Given the description of an element on the screen output the (x, y) to click on. 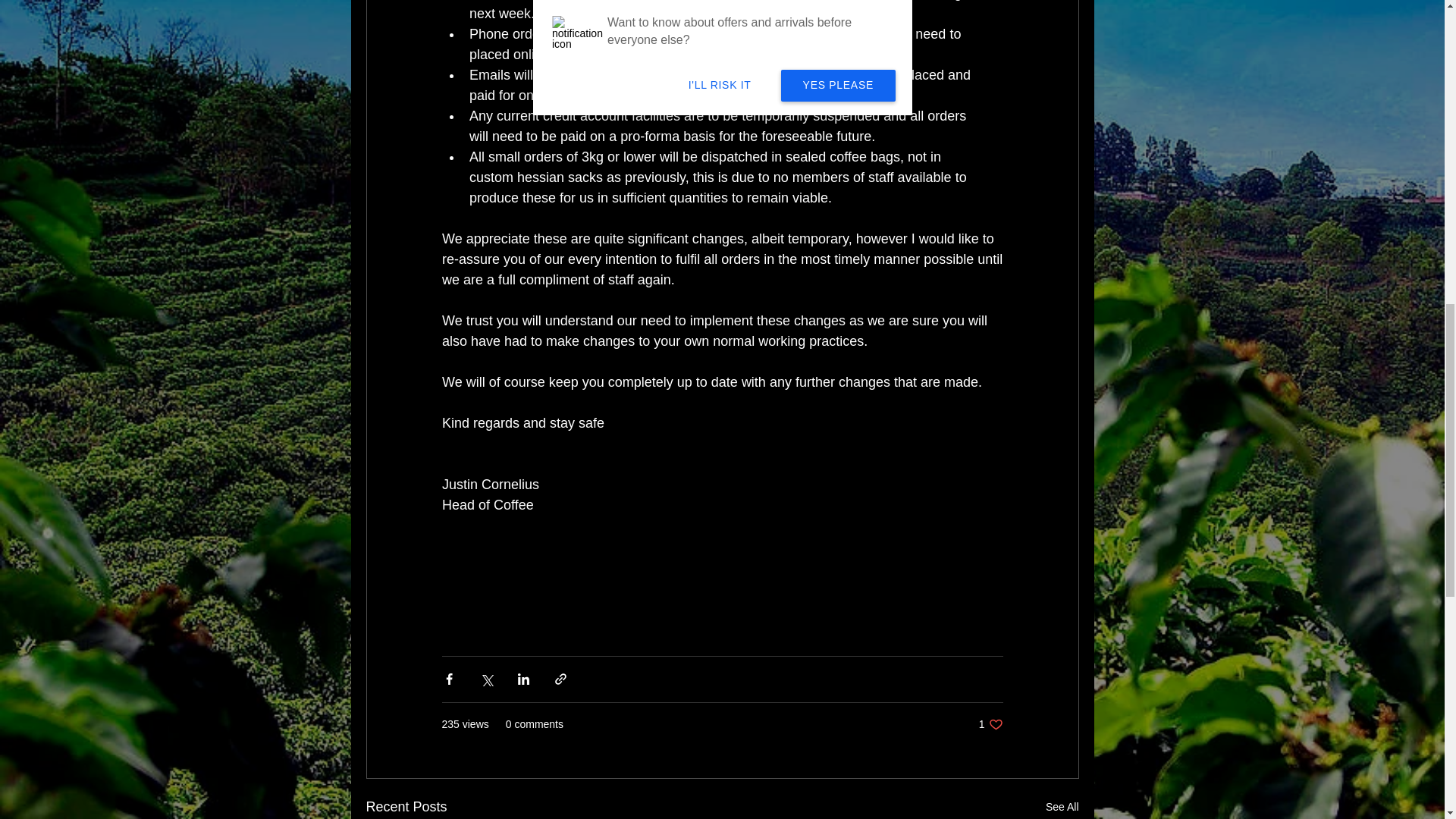
See All (990, 724)
